Given the description of an element on the screen output the (x, y) to click on. 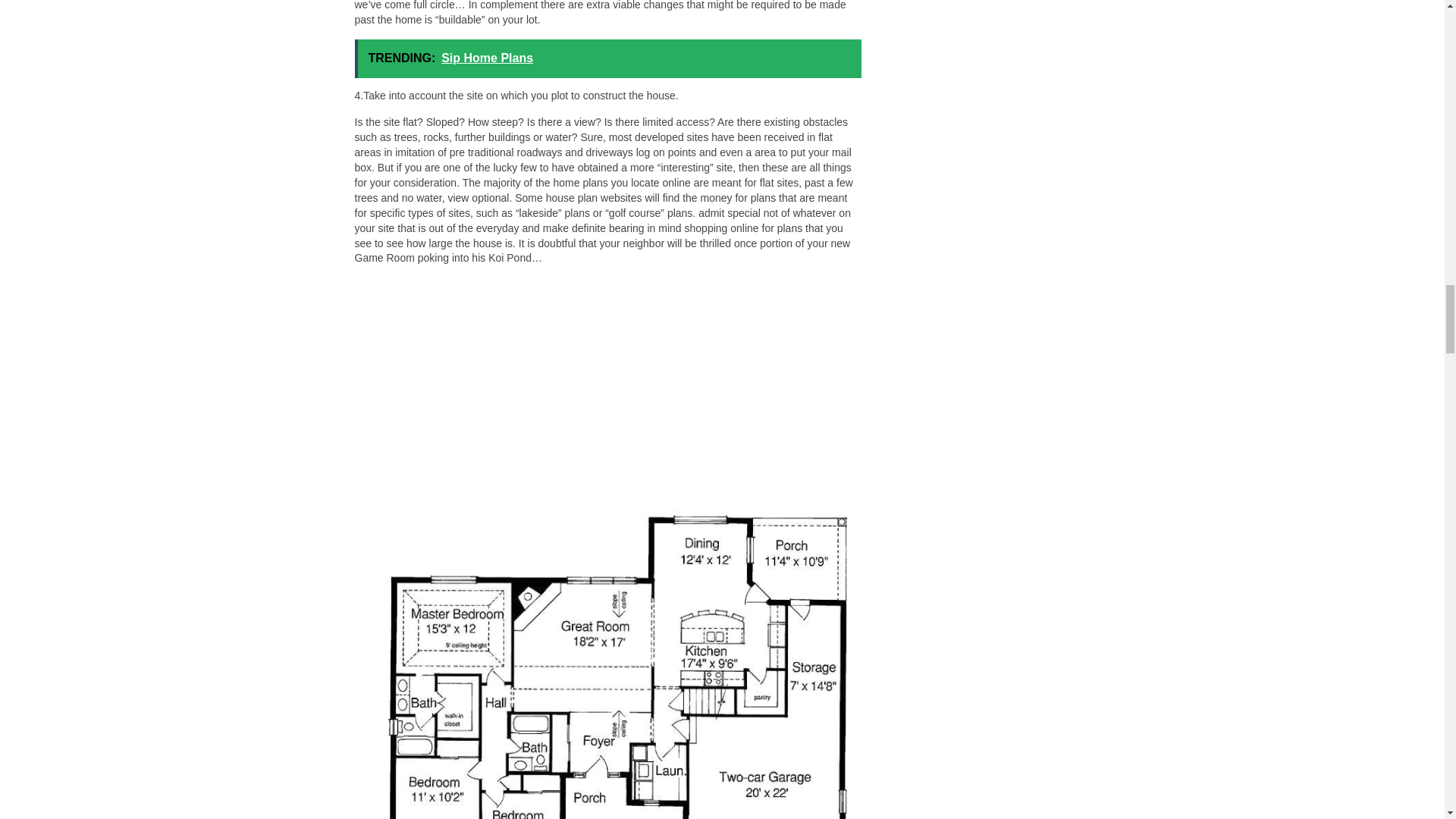
TRENDING:  Sip Home Plans (608, 58)
